Given the description of an element on the screen output the (x, y) to click on. 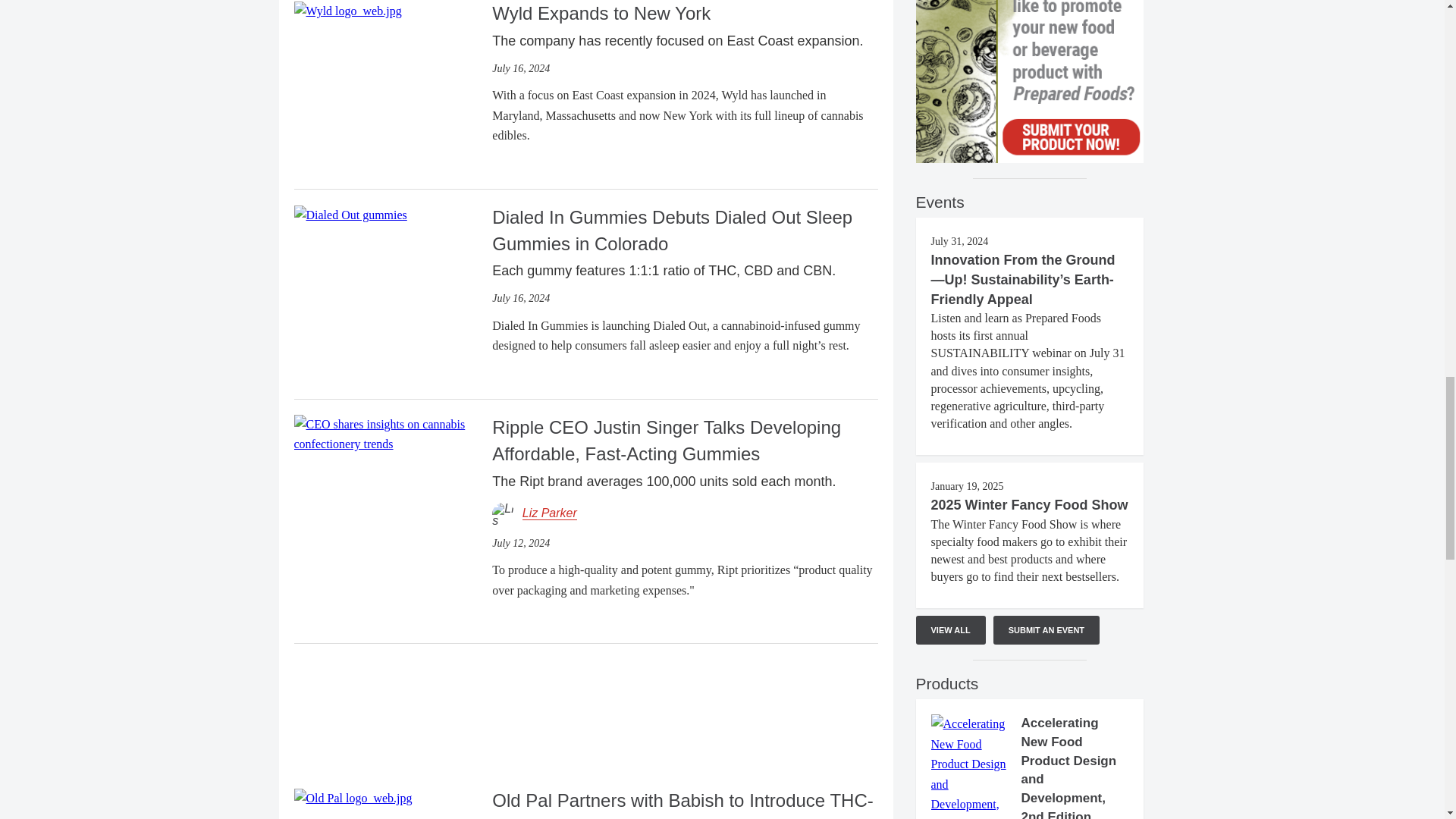
Wyld Expands to New York (347, 10)
Dialed Out gummies (350, 215)
